Given the description of an element on the screen output the (x, y) to click on. 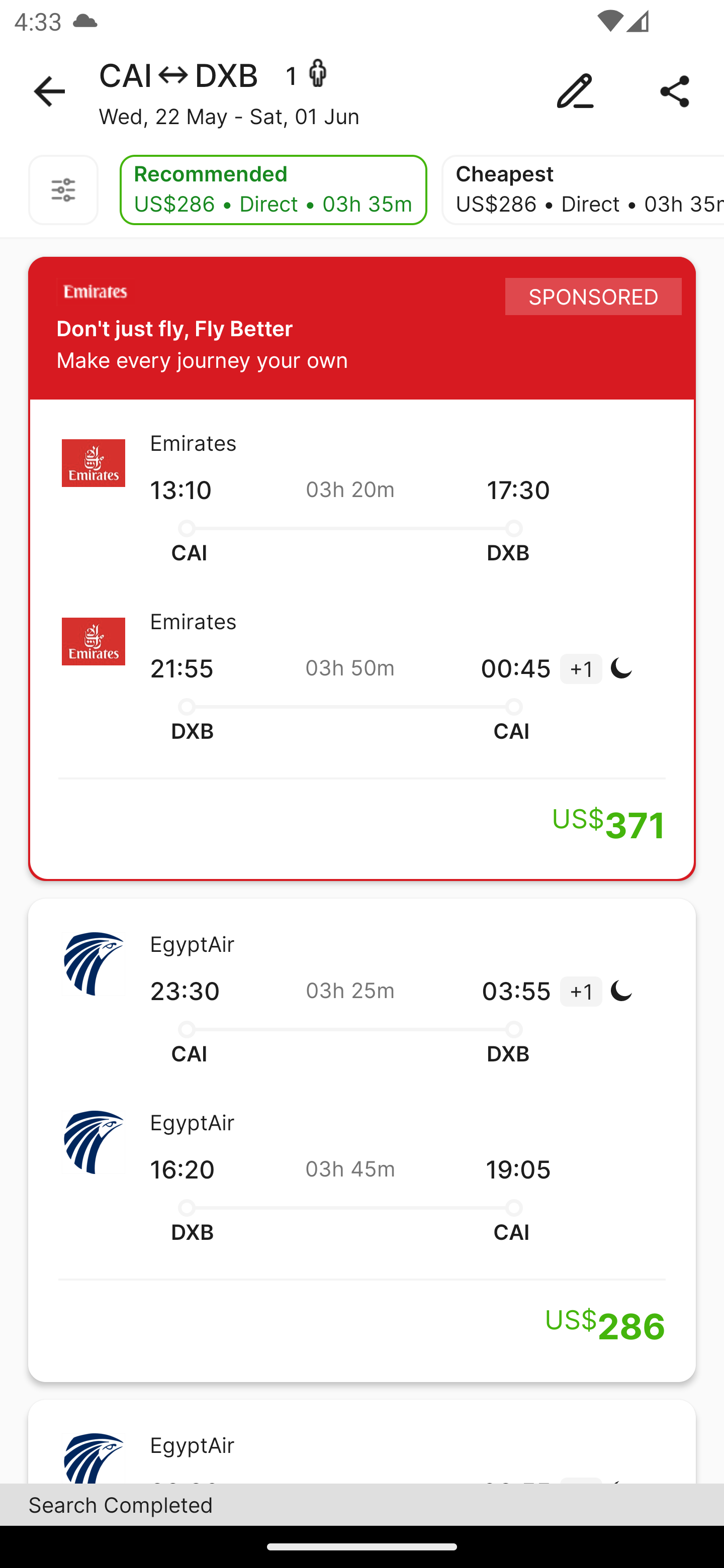
CAI DXB   1 - Wed, 22 May - Sat, 01 Jun (361, 91)
Recommended  US$286 • Direct • 03h 35m (273, 190)
Cheapest US$286 • Direct • 03h 35m (582, 190)
